Given the description of an element on the screen output the (x, y) to click on. 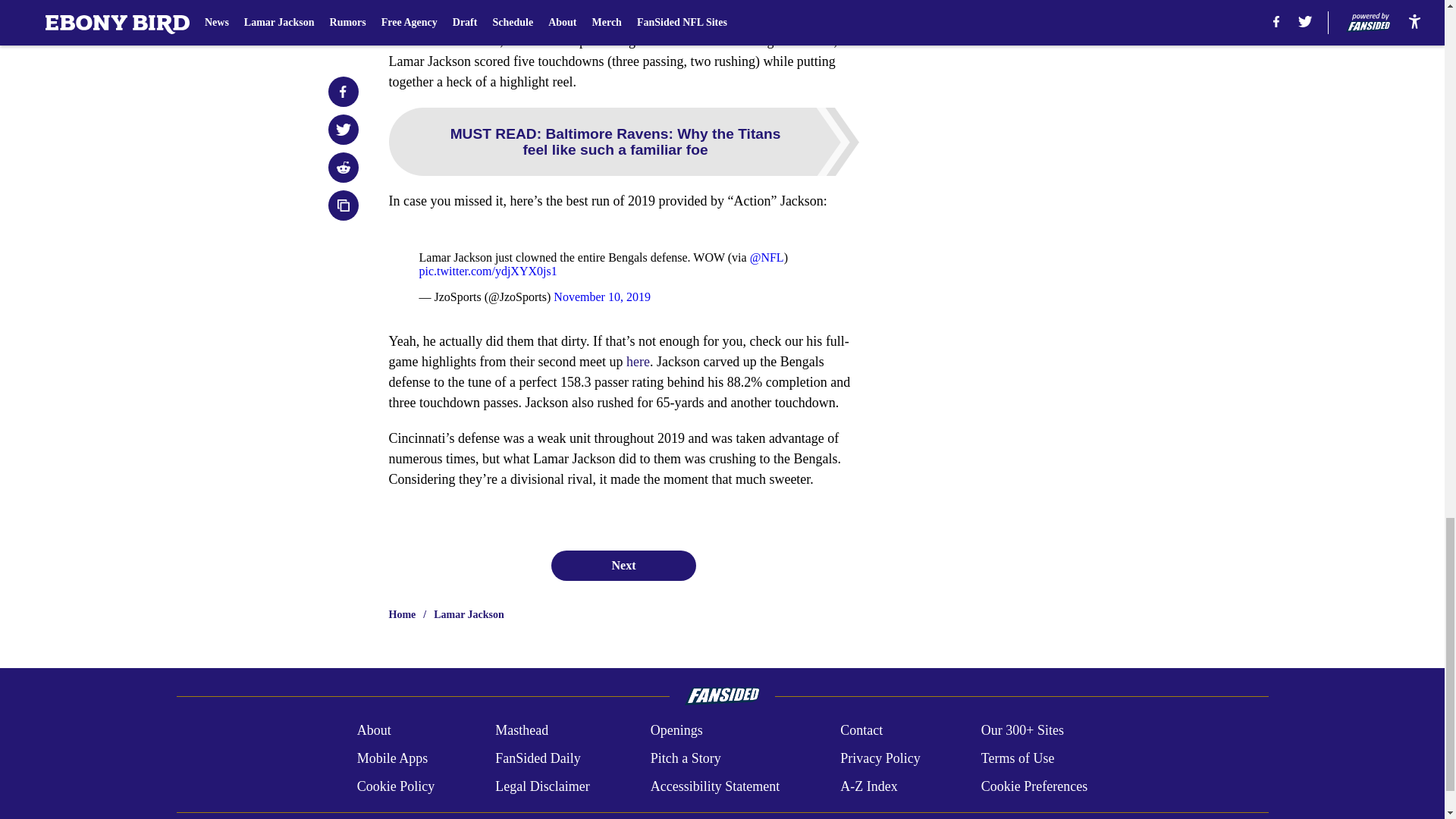
Lamar Jackson (468, 614)
here (637, 361)
Next (622, 565)
Openings (676, 730)
Masthead (521, 730)
Home (401, 614)
Contact (861, 730)
November 10, 2019 (601, 296)
About (373, 730)
Mobile Apps (392, 758)
FanSided Daily (537, 758)
